Given the description of an element on the screen output the (x, y) to click on. 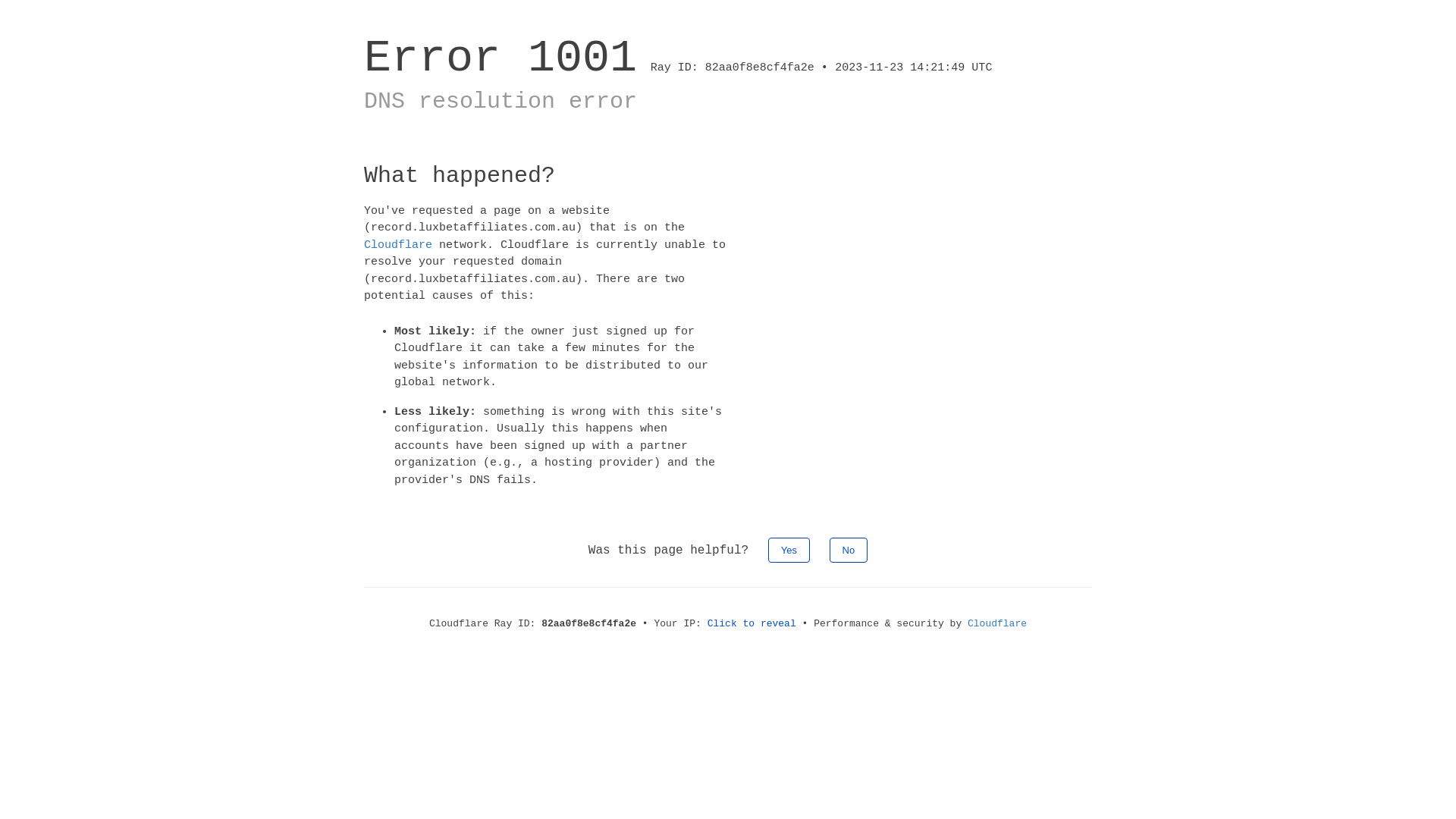
No Element type: text (848, 549)
Cloudflare Element type: text (996, 623)
Cloudflare Element type: text (398, 244)
Click to reveal Element type: text (751, 623)
Yes Element type: text (788, 549)
